Given the description of an element on the screen output the (x, y) to click on. 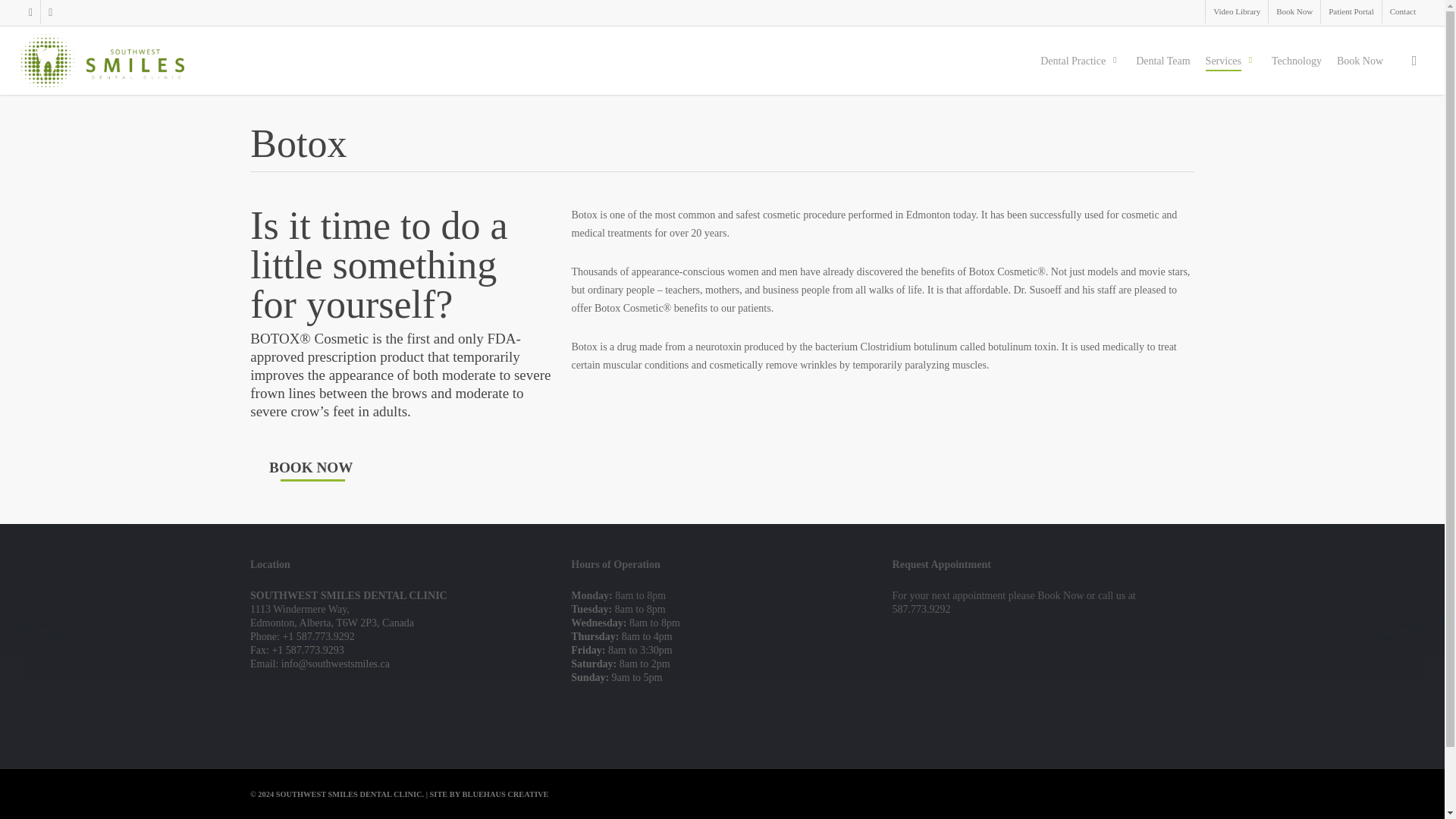
Dental Practice (1081, 60)
Contact (1402, 11)
Bluehaus Creative (505, 794)
BOOK NOW (310, 467)
Book Now (1359, 61)
Services (1230, 60)
Technology (1296, 61)
search (1414, 60)
Book Now (1294, 11)
Dental Team (1162, 61)
